Given the description of an element on the screen output the (x, y) to click on. 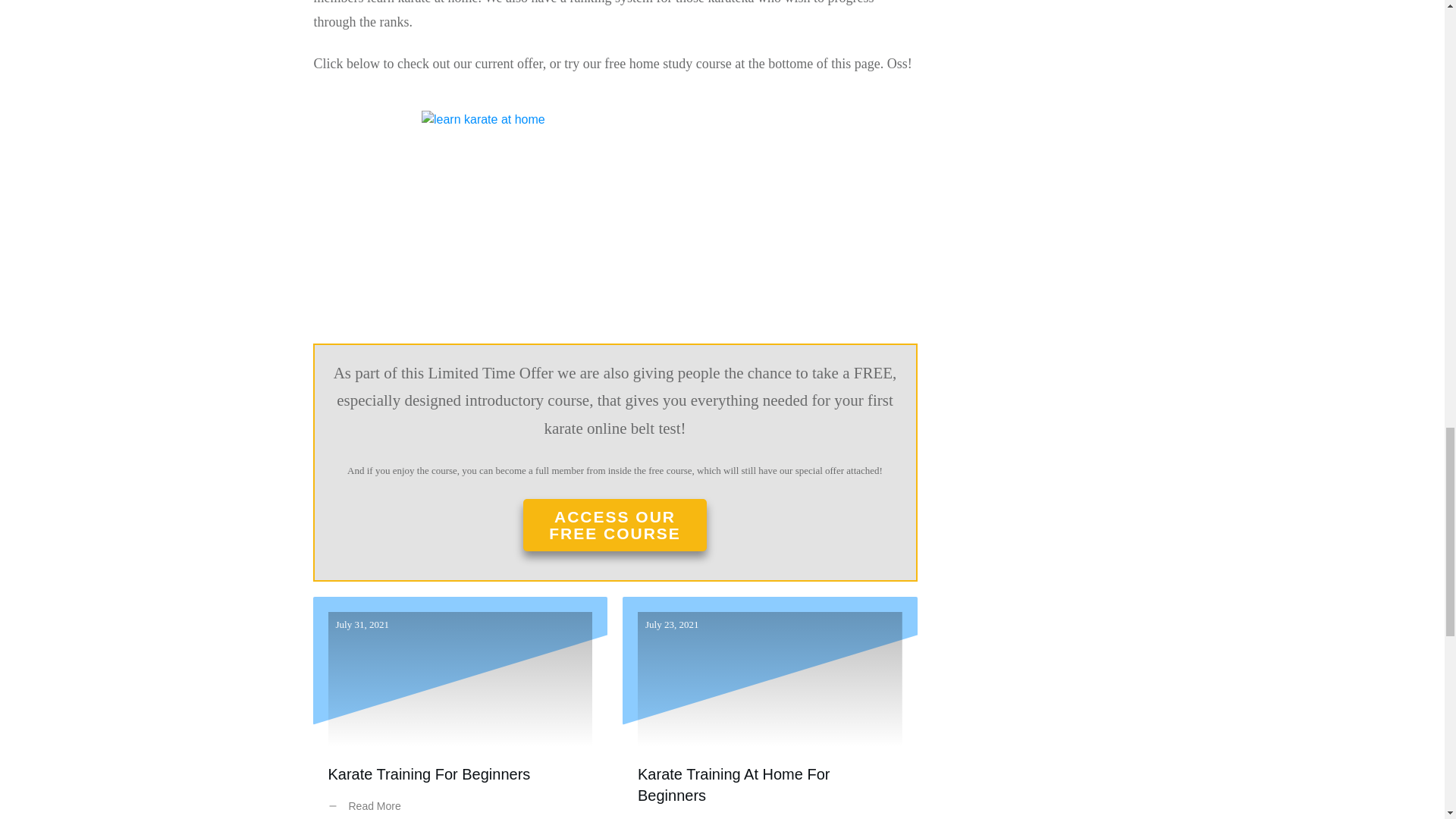
Karate Training At Home For Beginners (733, 784)
Read More (677, 816)
free-7-day-karate-trial-1 (615, 219)
Karate Training For Beginners (428, 773)
Karate Training For Beginners (428, 773)
ACCESS OUR FREE COURSE (614, 524)
Read More (367, 805)
Karate Training At Home For Beginners (733, 784)
Karate Training At Home For Beginners (770, 708)
Karate Training For Beginners (460, 708)
